Given the description of an element on the screen output the (x, y) to click on. 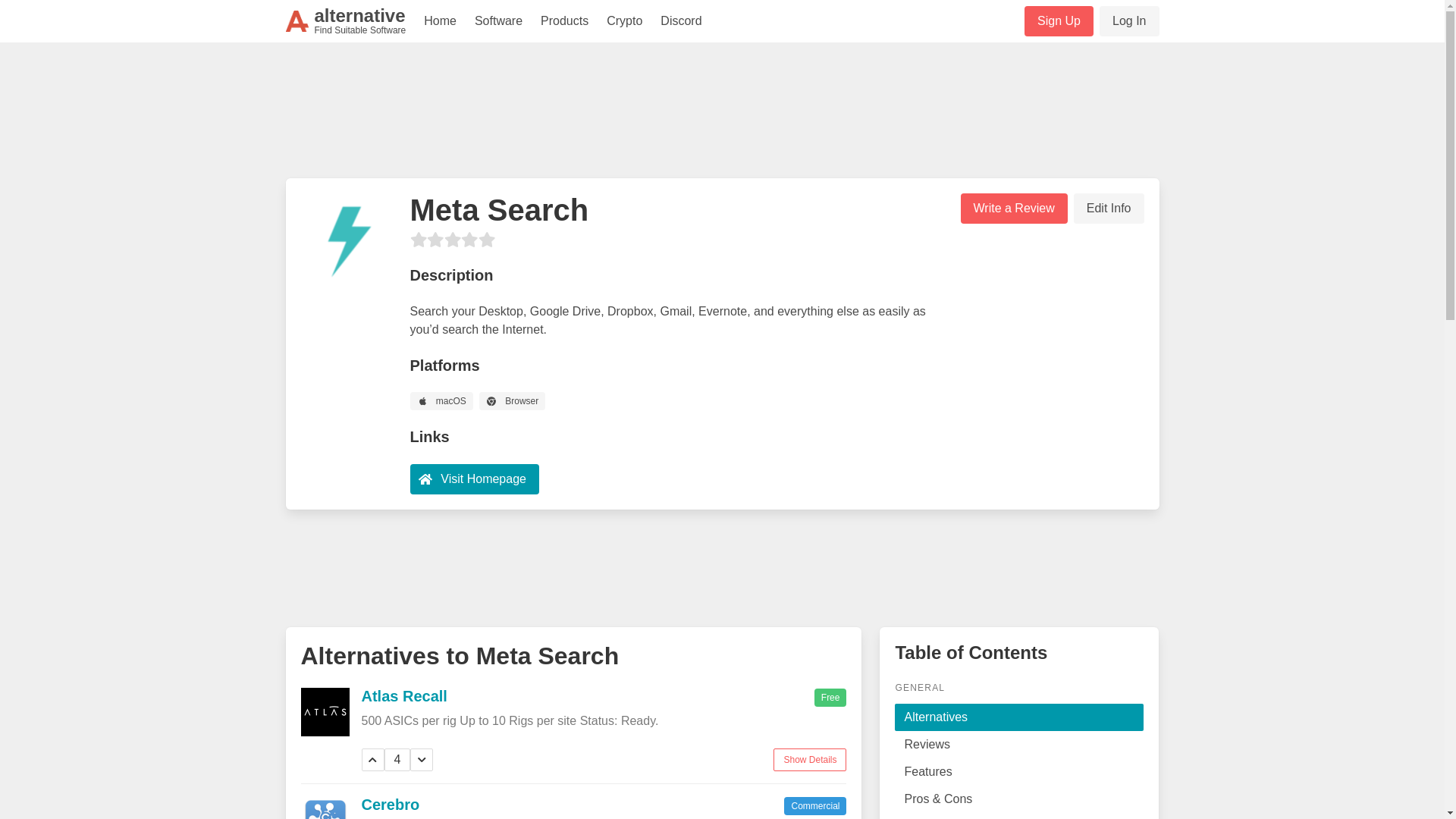
Visit Homepage (473, 479)
Visit Homepage (483, 477)
Show Details (809, 759)
Alternatives (1018, 717)
Reviews (1018, 744)
Home (439, 21)
Products (563, 21)
Cerebro (390, 804)
Software (498, 21)
Advertisement (721, 116)
